Given the description of an element on the screen output the (x, y) to click on. 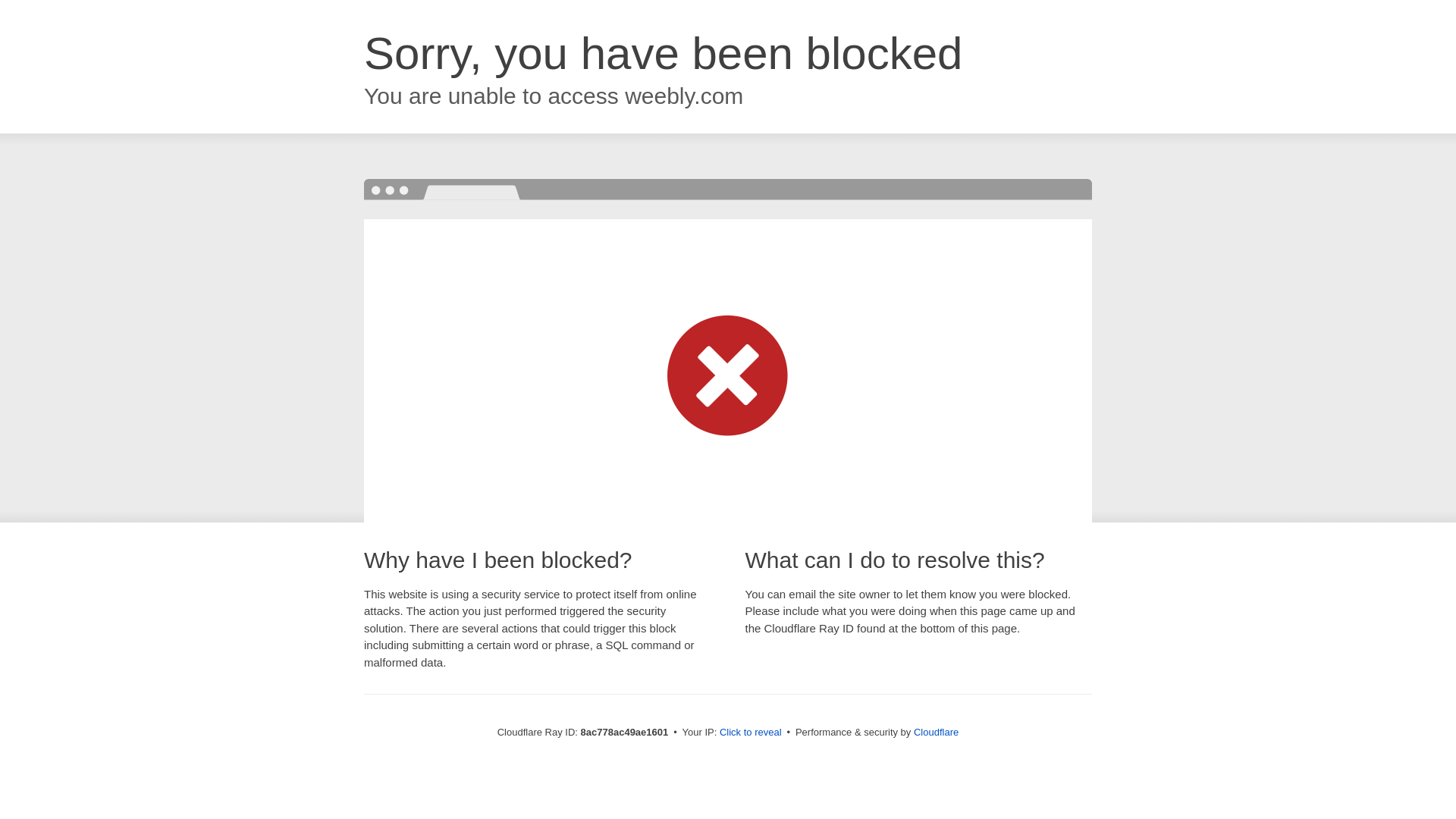
Cloudflare (936, 731)
Click to reveal (750, 732)
